Given the description of an element on the screen output the (x, y) to click on. 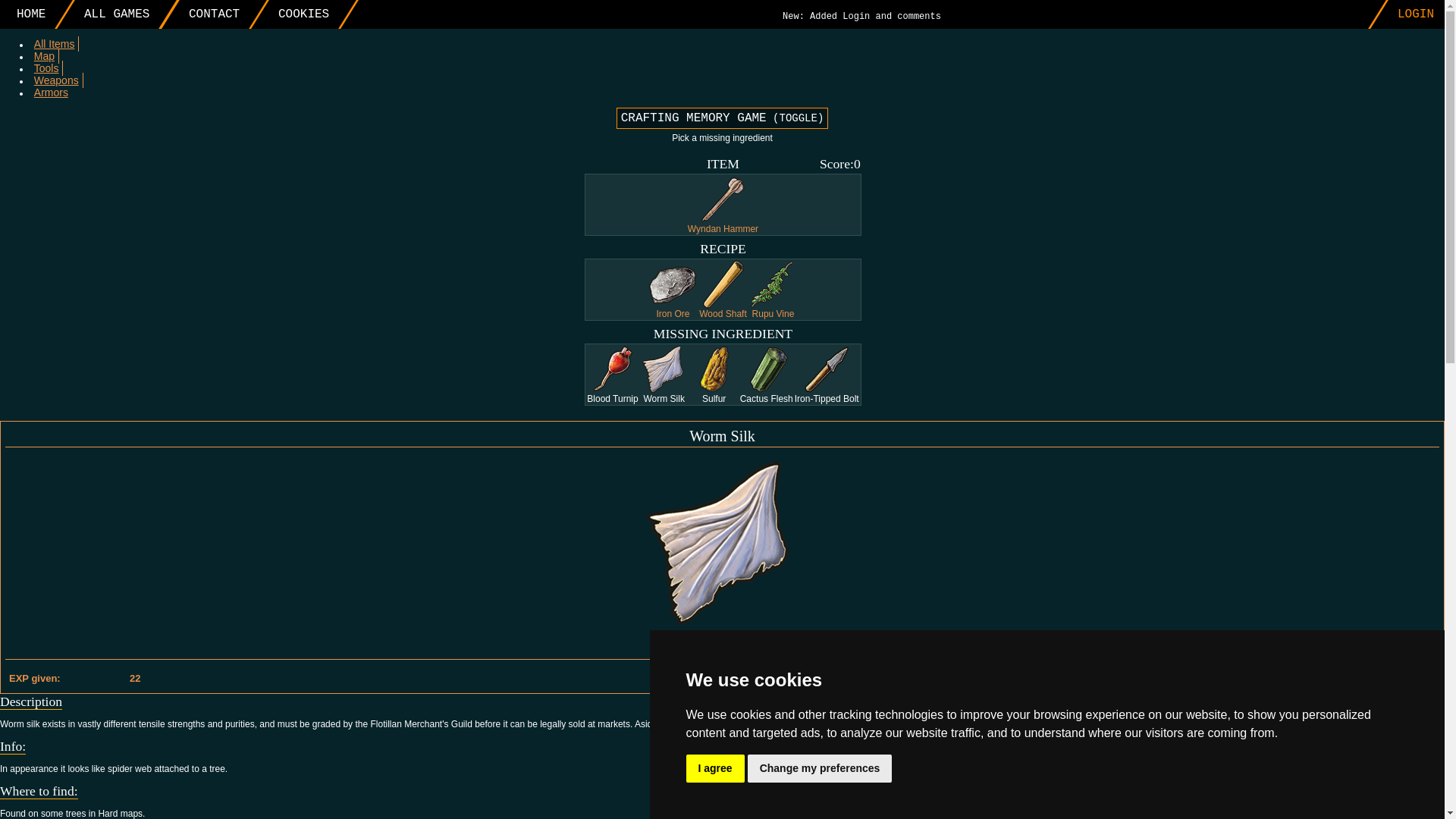
All Items (54, 43)
Map (44, 55)
Tools (46, 67)
Armors (50, 92)
Change my preferences (820, 768)
ALL GAMES (108, 14)
Weapons (56, 79)
I agree (714, 768)
COOKIES (293, 14)
Wyndan Hammer (722, 204)
